Given the description of an element on the screen output the (x, y) to click on. 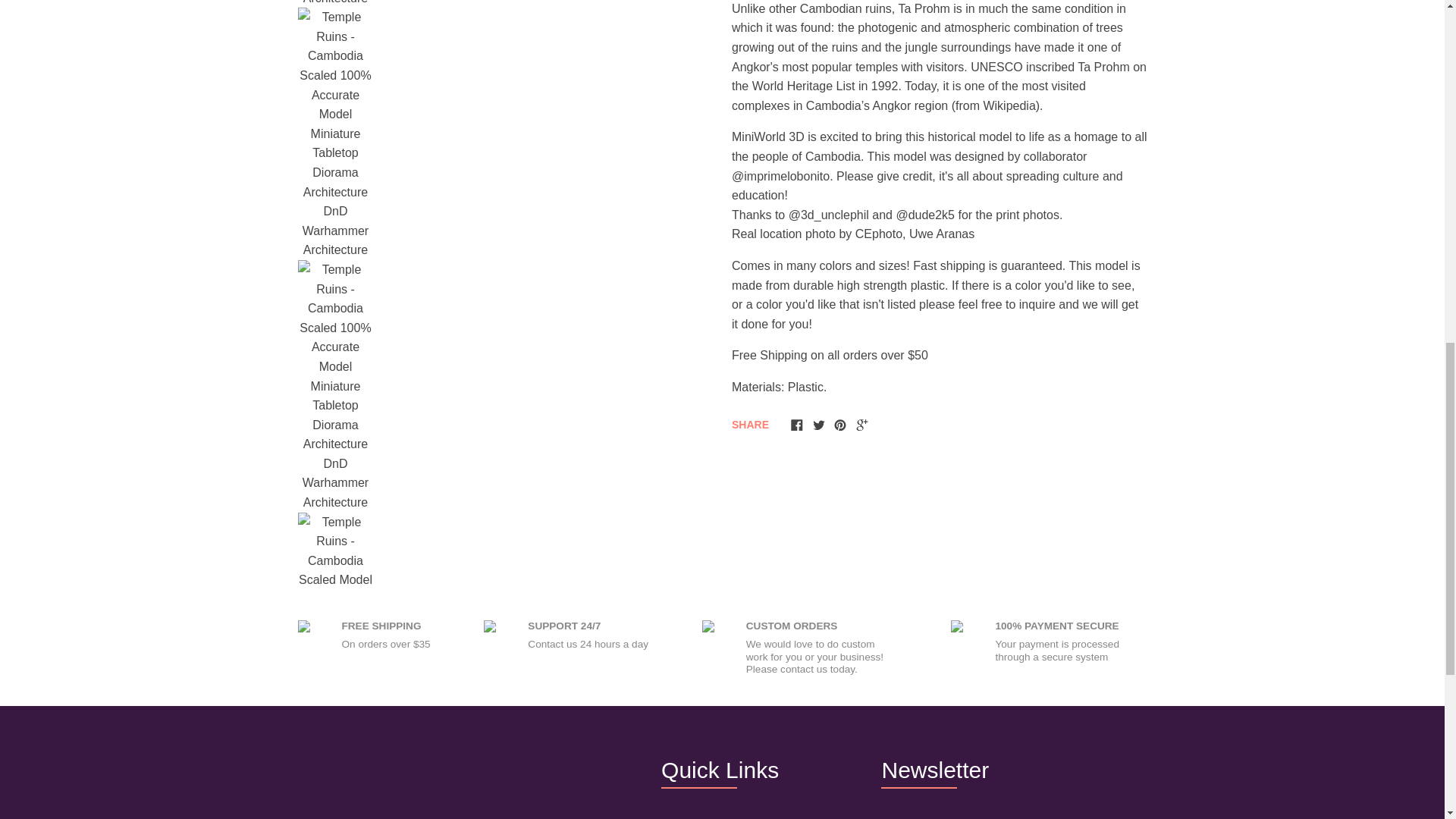
Twitter (818, 424)
Facebook (796, 424)
Pinterest (839, 424)
